Given the description of an element on the screen output the (x, y) to click on. 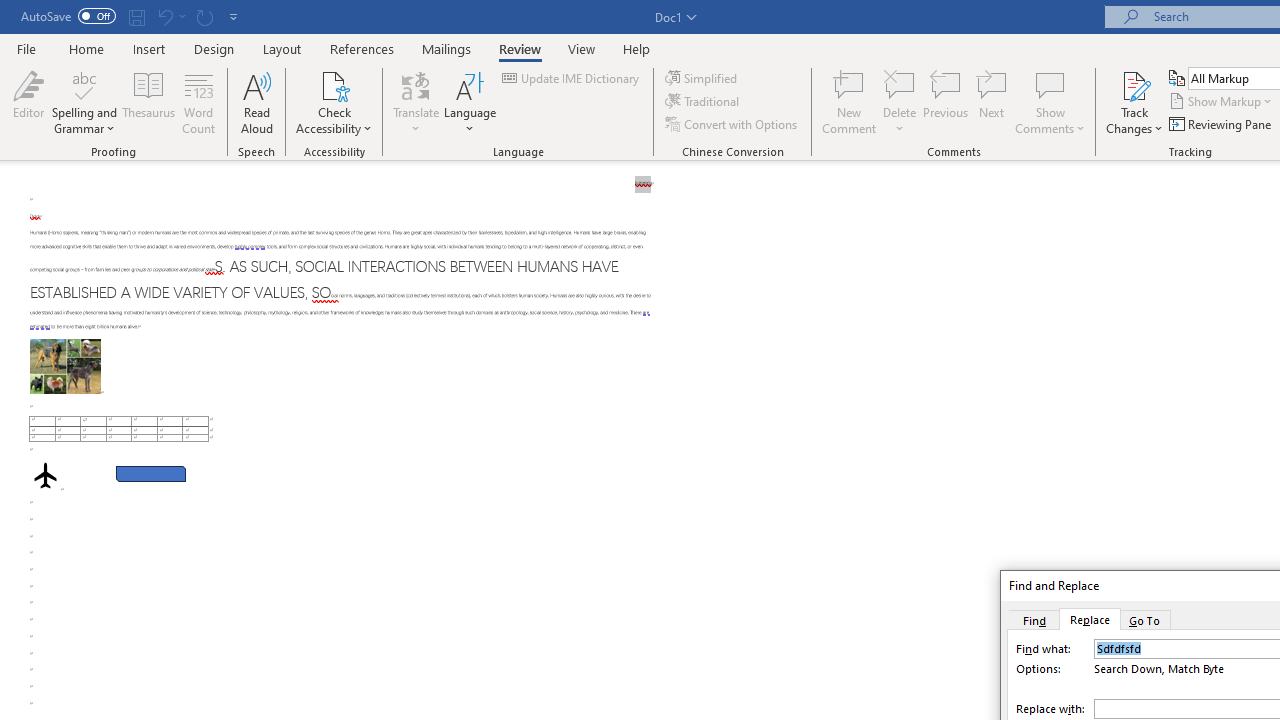
Replace (1089, 619)
Spelling and Grammar (84, 102)
Check Accessibility (334, 102)
Repeat Paragraph Alignment (204, 15)
Read Aloud (256, 102)
Thesaurus... (148, 102)
